Given the description of an element on the screen output the (x, y) to click on. 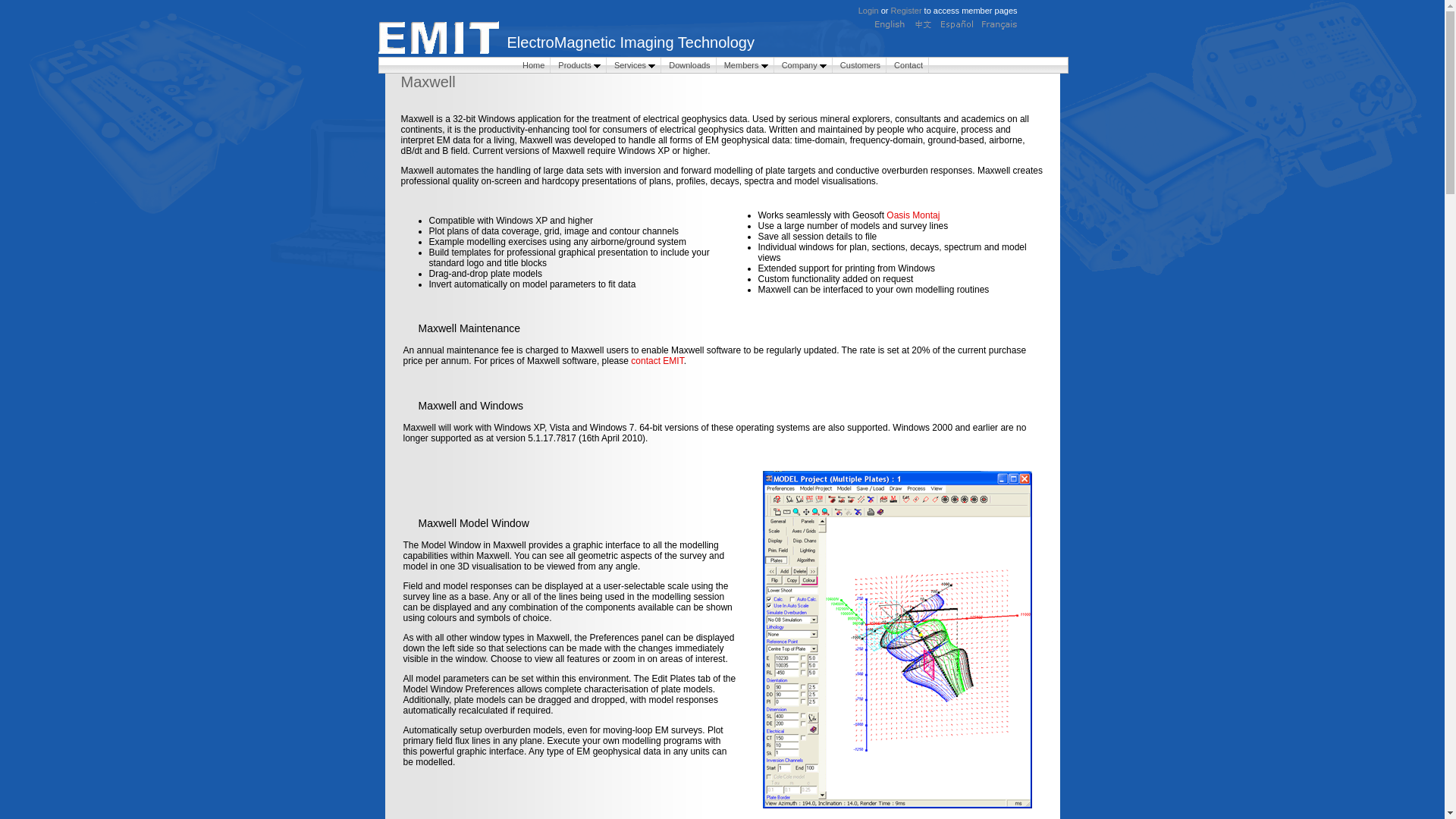
Company Element type: text (804, 64)
Register Element type: text (907, 10)
Customers Element type: text (860, 64)
Contact Element type: text (908, 64)
Members Element type: text (746, 64)
Home Element type: text (533, 64)
Oasis Montaj Element type: text (912, 215)
contact EMIT Element type: text (656, 360)
Login Element type: text (868, 10)
Downloads Element type: text (689, 64)
Products Element type: text (578, 64)
Services Element type: text (634, 64)
